Given the description of an element on the screen output the (x, y) to click on. 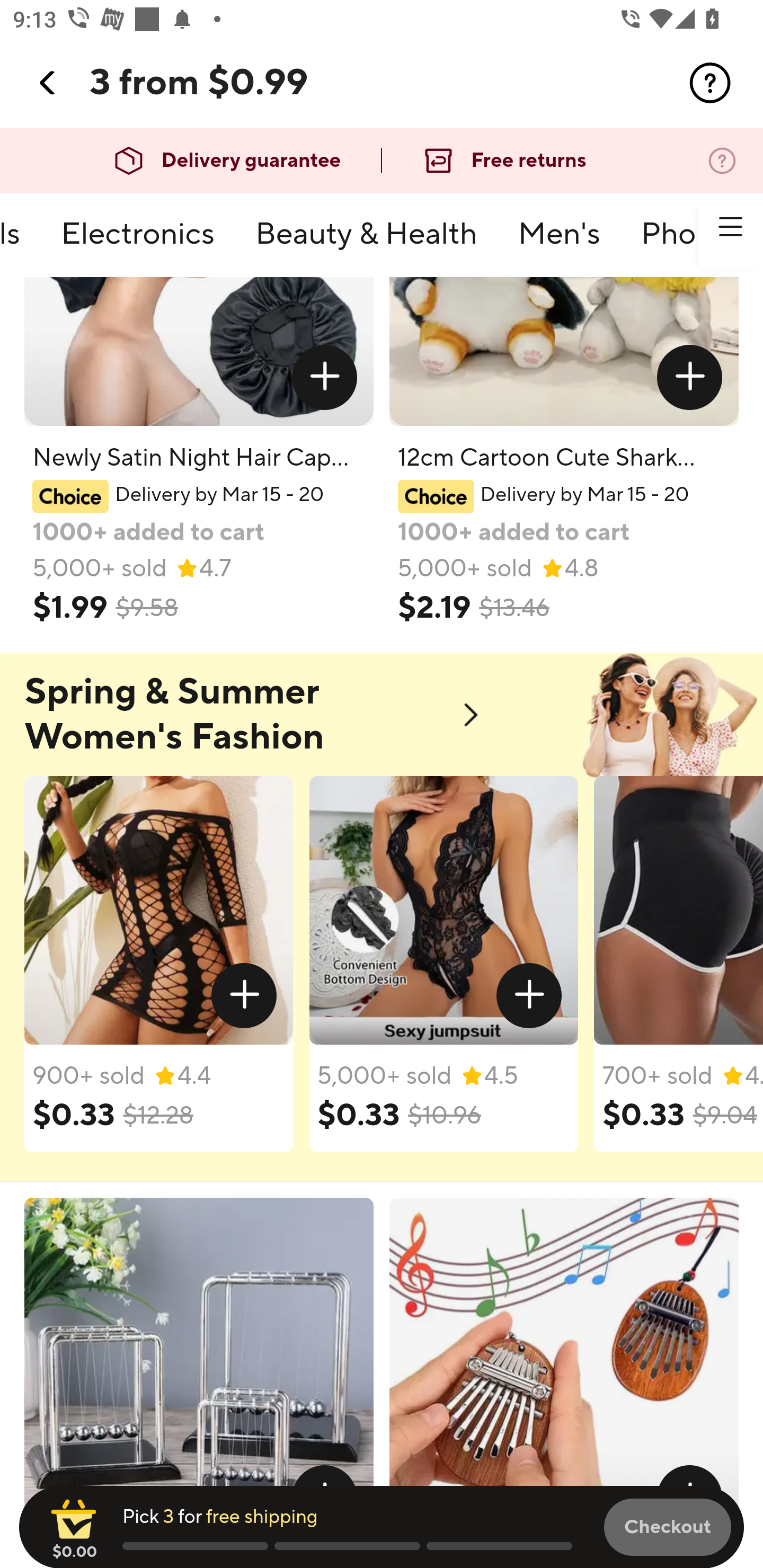
 (710, 82)
 (48, 82)
 (730, 226)
Electronics (137, 242)
Beauty & Health (366, 242)
Men's (558, 242)
 (323, 376)
 (689, 376)
 (244, 995)
 (529, 995)
